Given the description of an element on the screen output the (x, y) to click on. 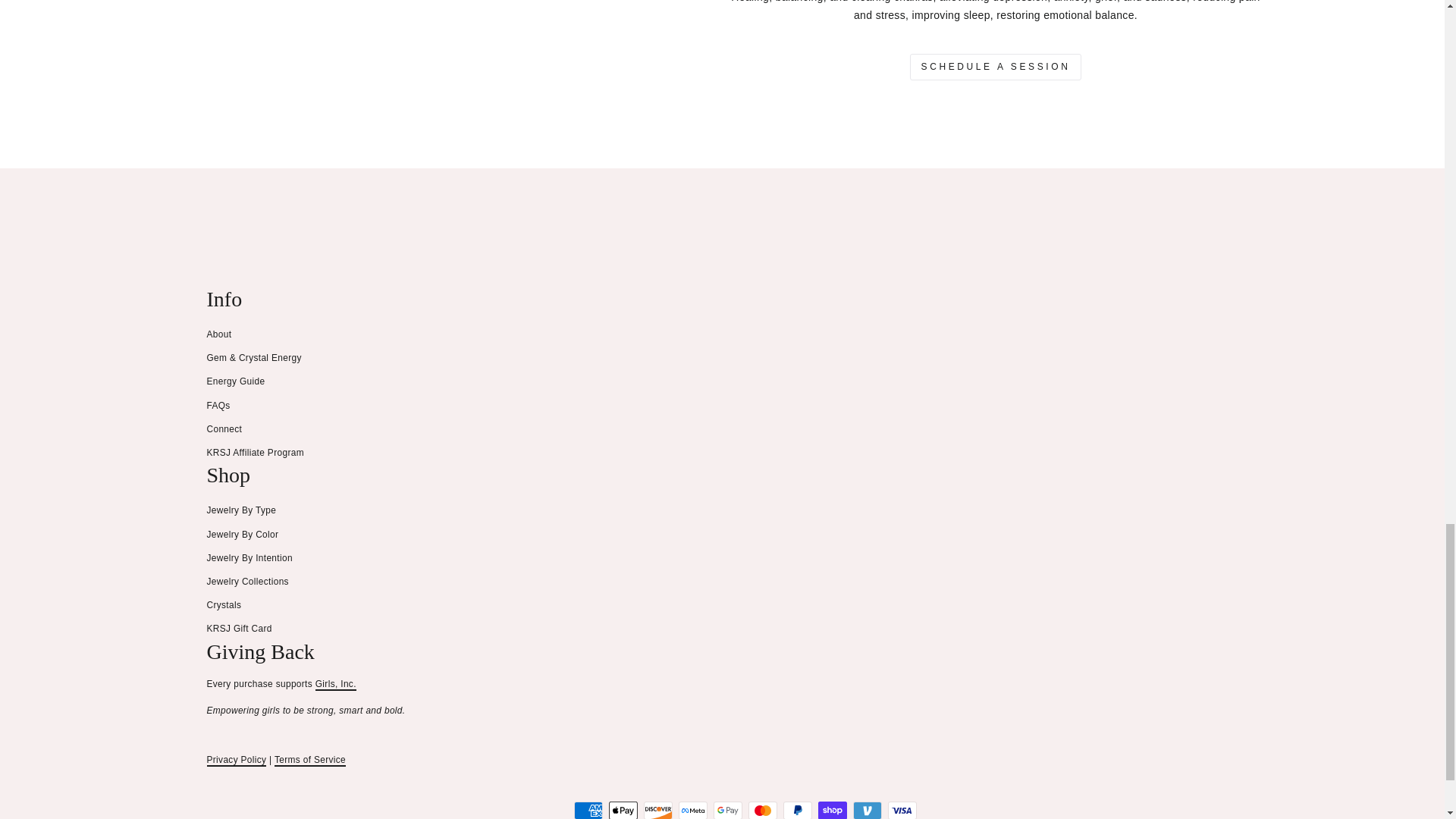
PayPal (796, 810)
Google Pay (727, 810)
Shop Pay (830, 810)
Mastercard (762, 810)
Visa (900, 810)
Terms of Service (310, 760)
Discover (657, 810)
Apple Pay (622, 810)
Privacy Policy (236, 760)
Venmo (865, 810)
Meta Pay (692, 810)
American Express (587, 810)
